Given the description of an element on the screen output the (x, y) to click on. 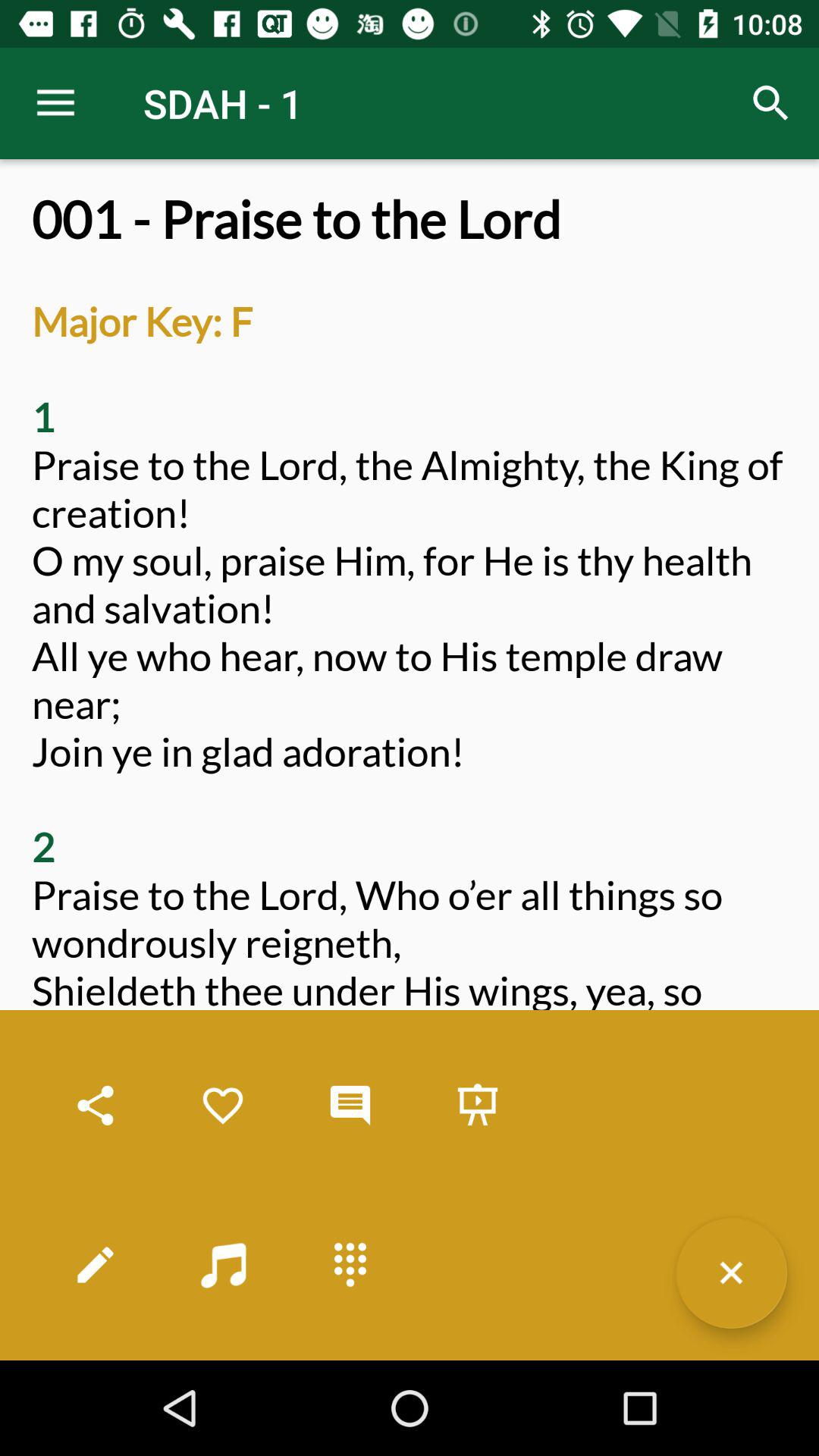
turn off item at the top right corner (771, 103)
